Given the description of an element on the screen output the (x, y) to click on. 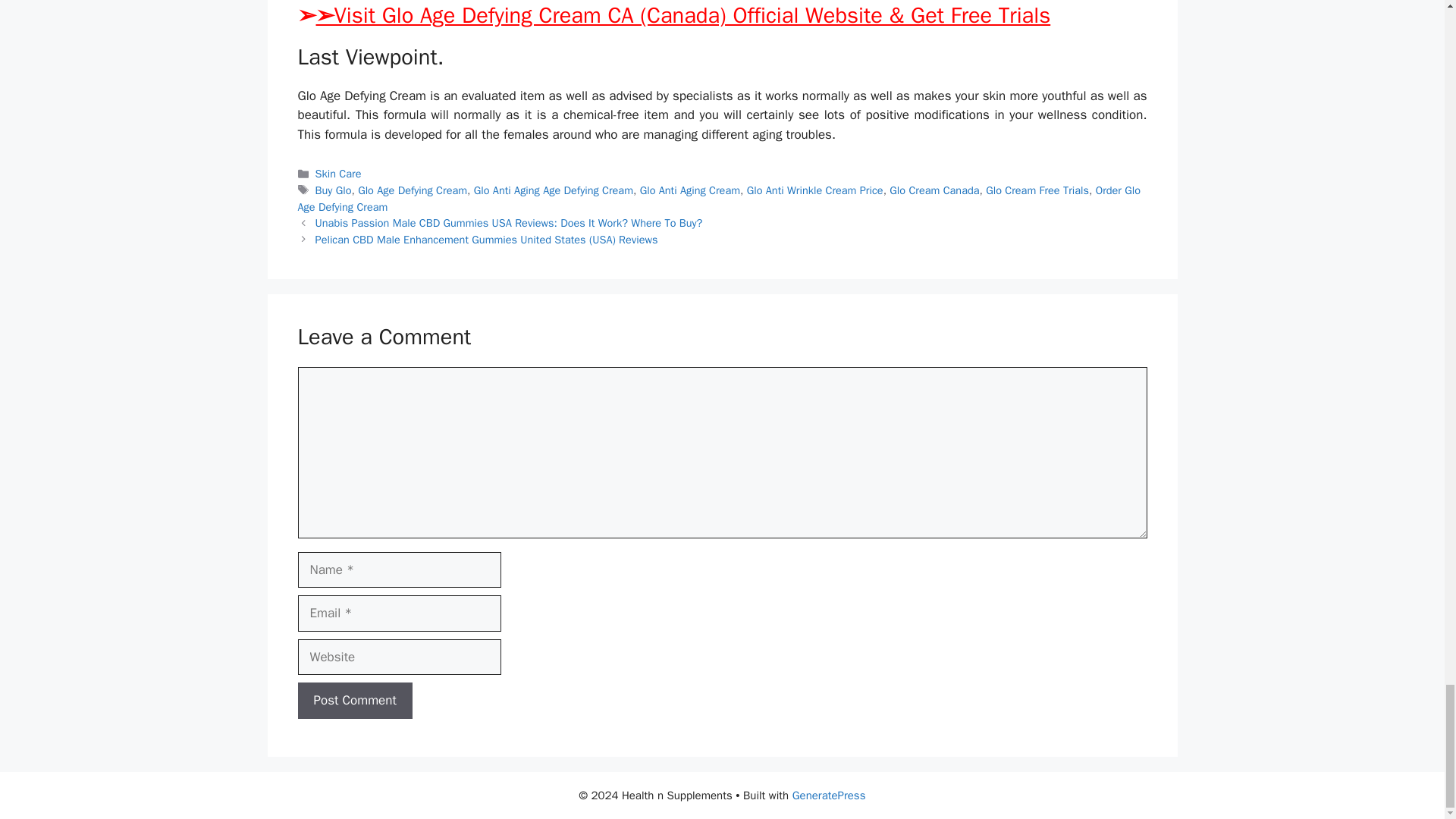
Glo Cream Free Trials (1037, 190)
Post Comment (354, 700)
Glo Cream Canada (933, 190)
Buy Glo (333, 190)
Order Glo Age Defying Cream (718, 198)
Skin Care (338, 173)
Glo Anti Wrinkle Cream Price (814, 190)
Post Comment (354, 700)
Glo Anti Aging Age Defying Cream (553, 190)
Glo Anti Aging Cream (689, 190)
GeneratePress (829, 795)
Glo Age Defying Cream (412, 190)
